Given the description of an element on the screen output the (x, y) to click on. 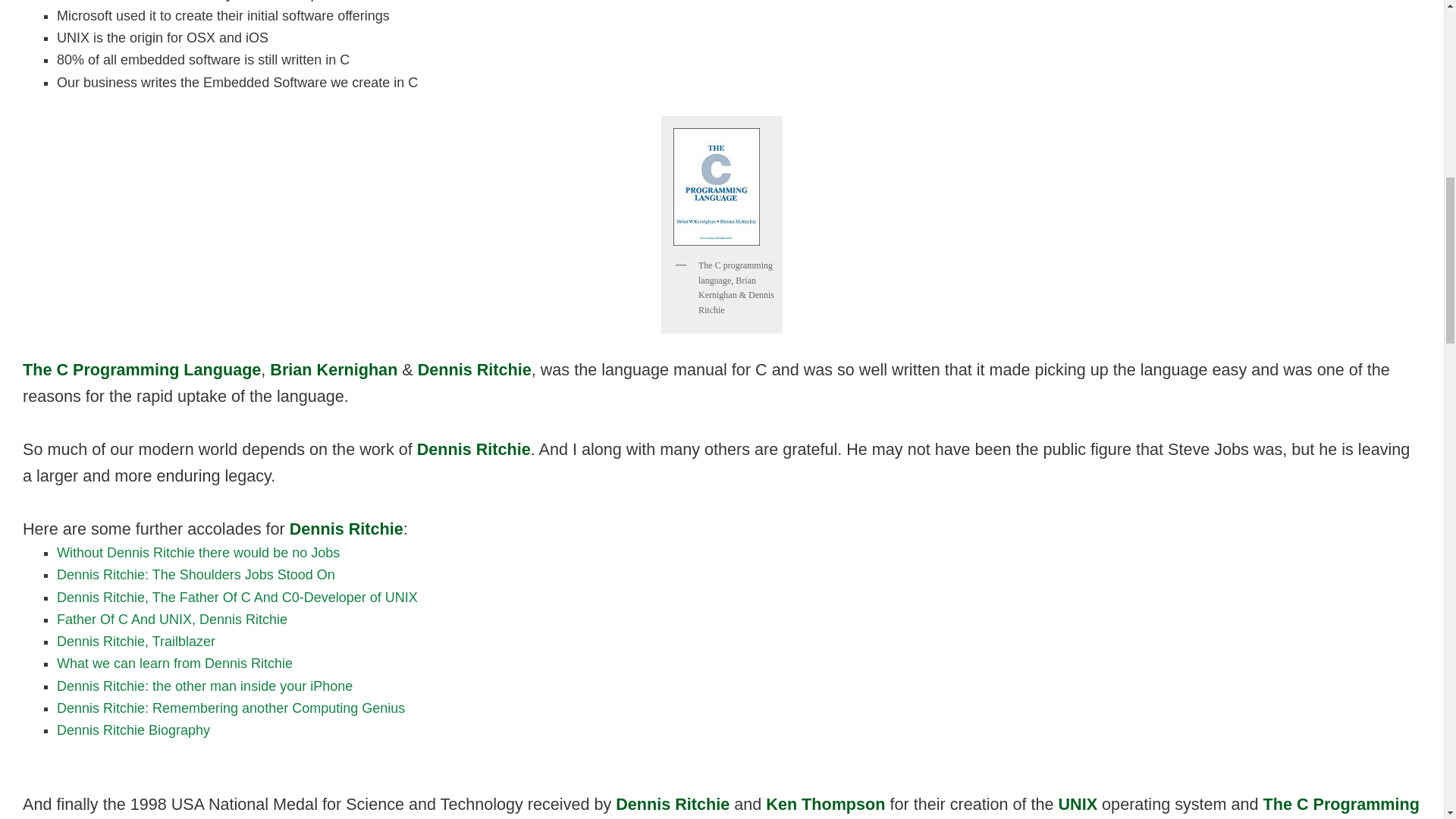
Dennis Ritchie (195, 574)
Dennis Ritchie (171, 619)
Dennis Ritchie (197, 552)
Brian Kernighan (333, 368)
Dennis Ritchie (236, 597)
